Given the description of an element on the screen output the (x, y) to click on. 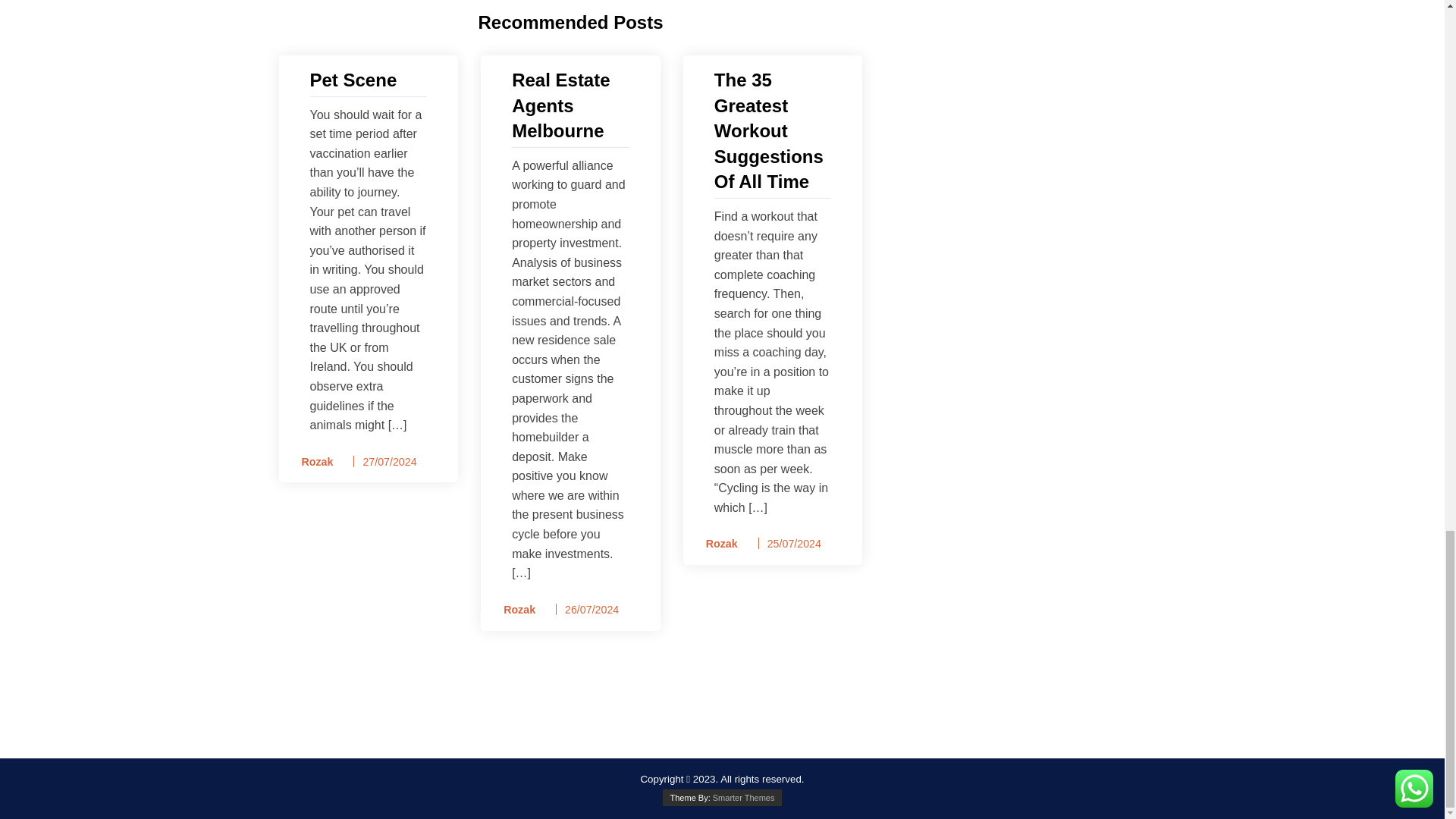
Real Estate Agents Melbourne (570, 105)
Rozak (716, 543)
Rozak (312, 461)
Rozak (514, 610)
The 35 Greatest Workout Suggestions Of All Time (772, 130)
Pet Scene (367, 80)
